Given the description of an element on the screen output the (x, y) to click on. 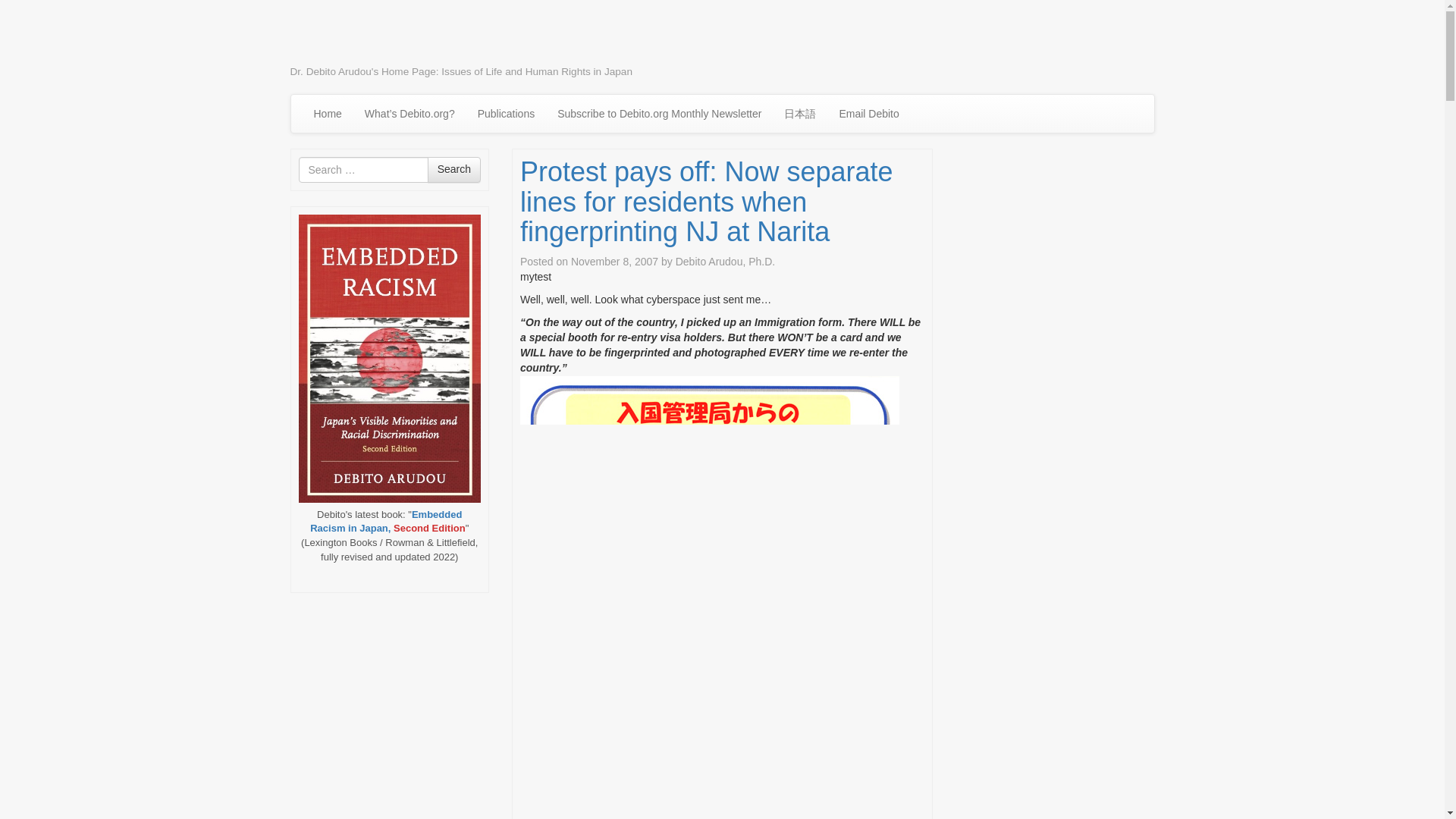
Debito Arudou, Ph.D. (725, 261)
Publications (506, 113)
Embedded Racism in Japan, Second Edition (387, 521)
Email Debito (868, 113)
naritanewbooths.jpg (709, 647)
1:10 am (614, 261)
Search (454, 169)
debito.org (349, 35)
debito.org (349, 35)
Subscribe to Debito.org Monthly Newsletter (659, 113)
View all posts by Debito Arudou, Ph.D. (725, 261)
November 8, 2007 (614, 261)
Search for: (363, 169)
Home (326, 113)
